Given the description of an element on the screen output the (x, y) to click on. 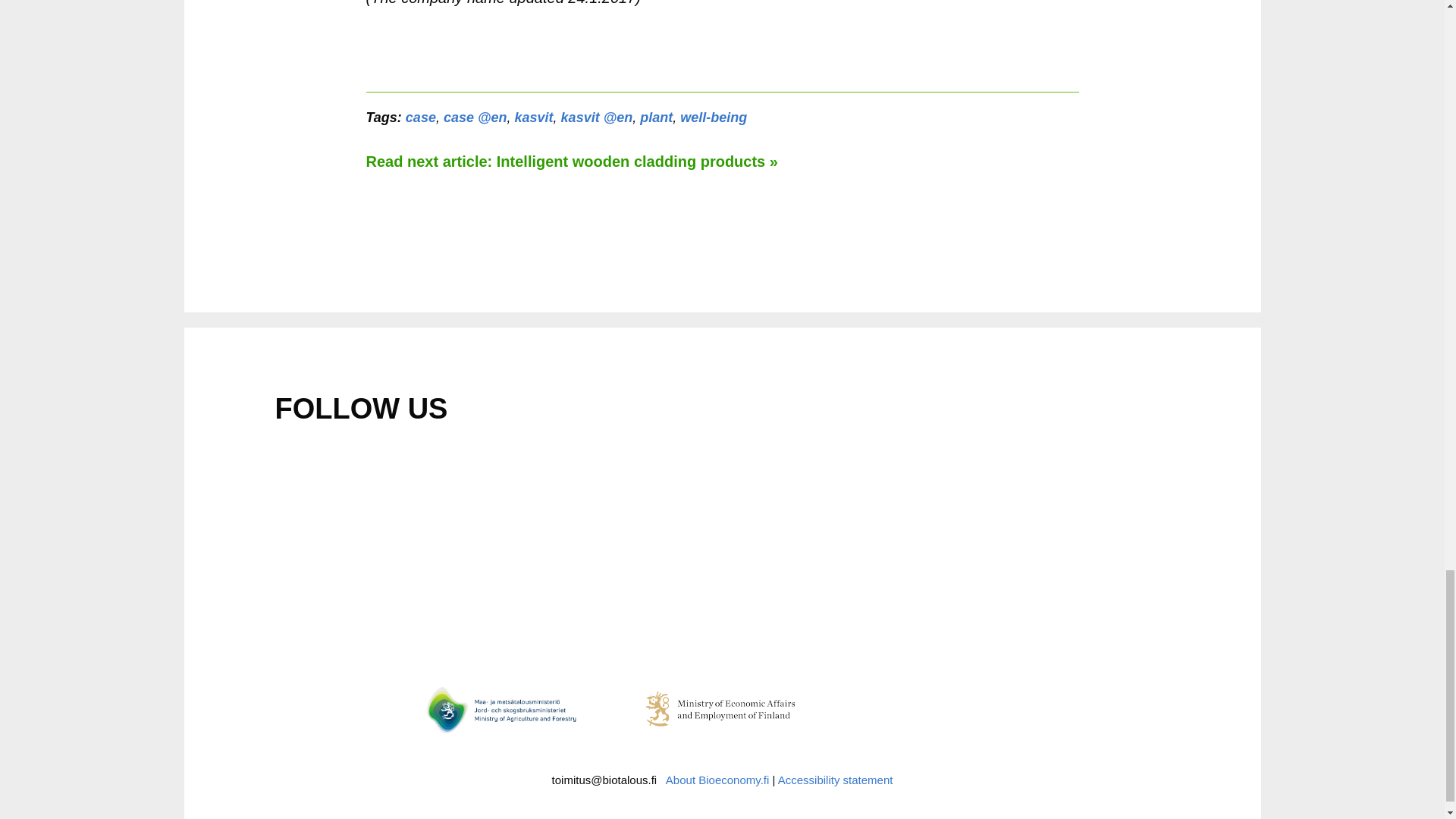
plant (656, 117)
well-being (712, 117)
Accessibility statement (835, 779)
case (420, 117)
kasvit (534, 117)
About Bioeconomy.fi (716, 779)
